Given the description of an element on the screen output the (x, y) to click on. 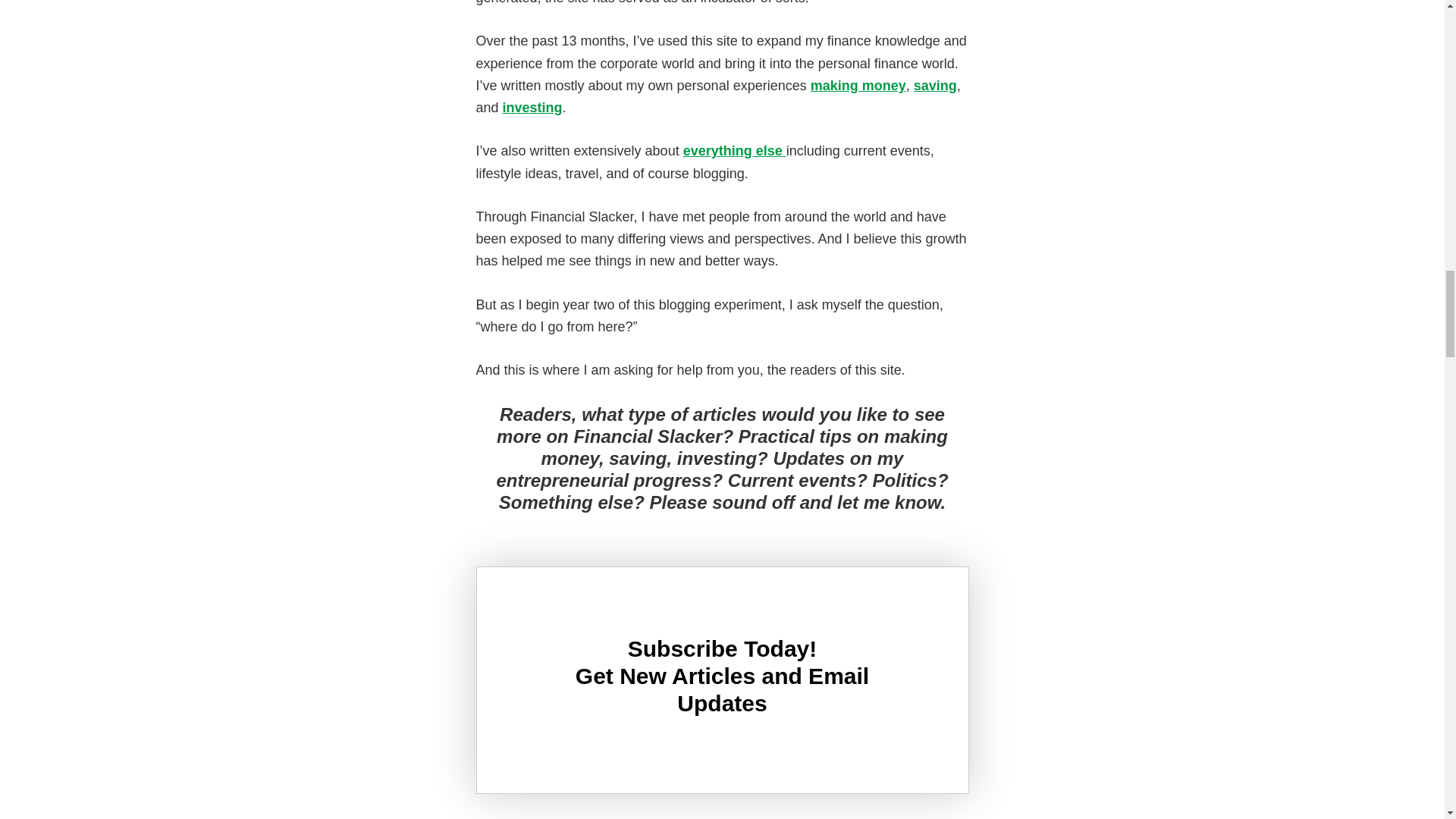
everything else (734, 150)
investing (532, 107)
saving (935, 85)
making money (857, 85)
